Given the description of an element on the screen output the (x, y) to click on. 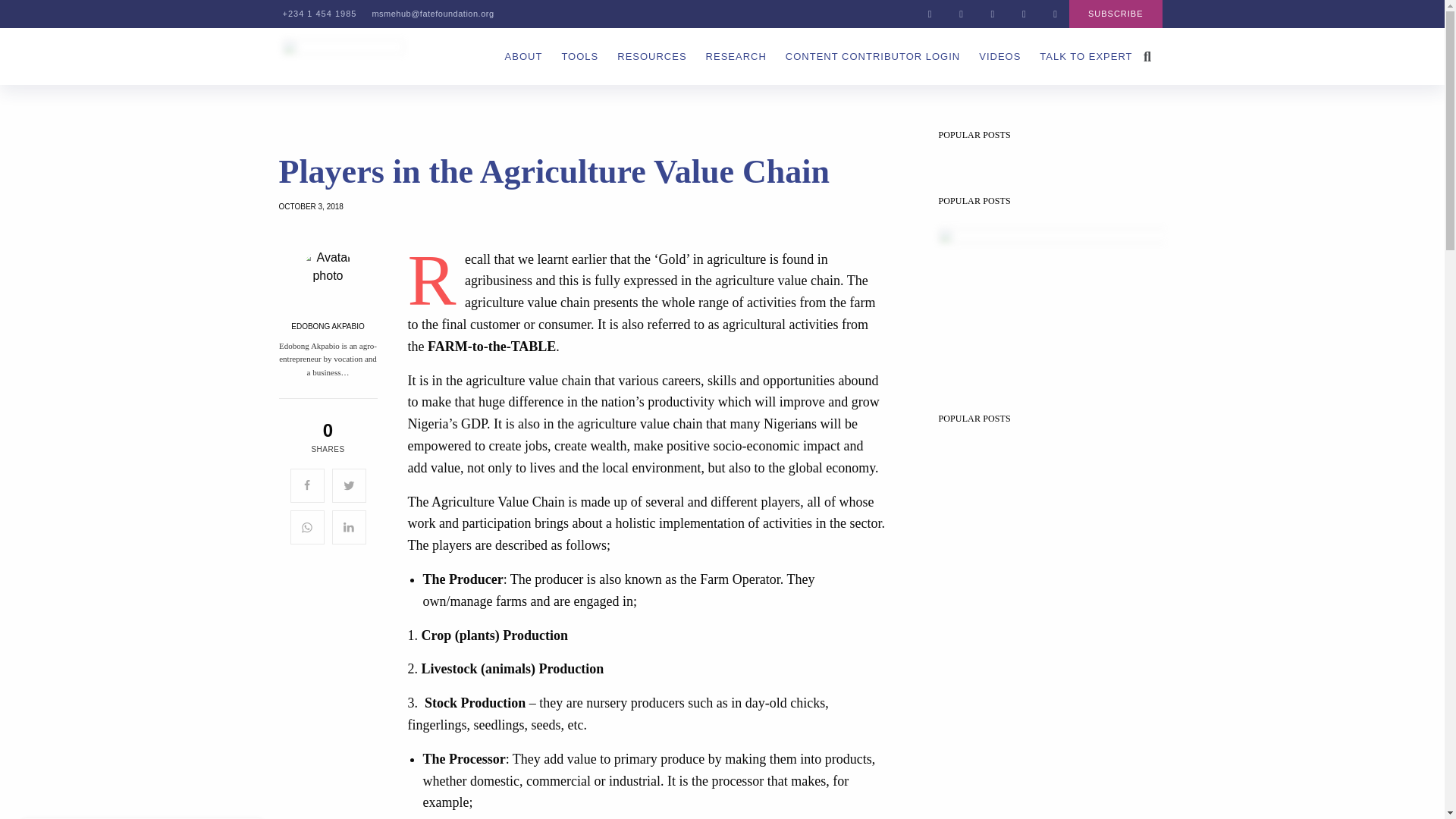
TOOLS (579, 55)
RESOURCES (651, 55)
SUBSCRIBE (1114, 13)
ABOUT (524, 55)
